Given the description of an element on the screen output the (x, y) to click on. 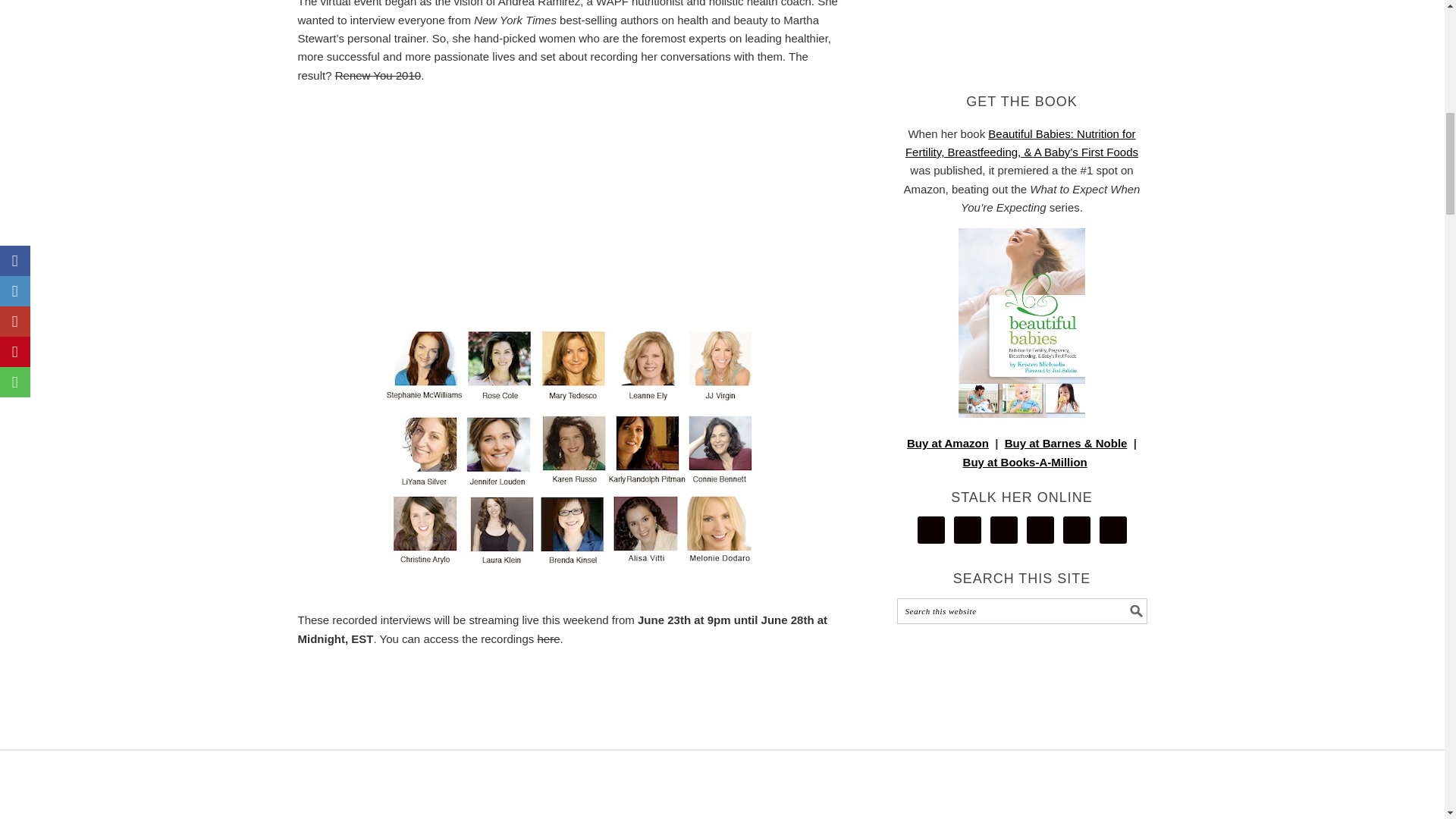
Renew You 2010 Lineup (570, 445)
